Given the description of an element on the screen output the (x, y) to click on. 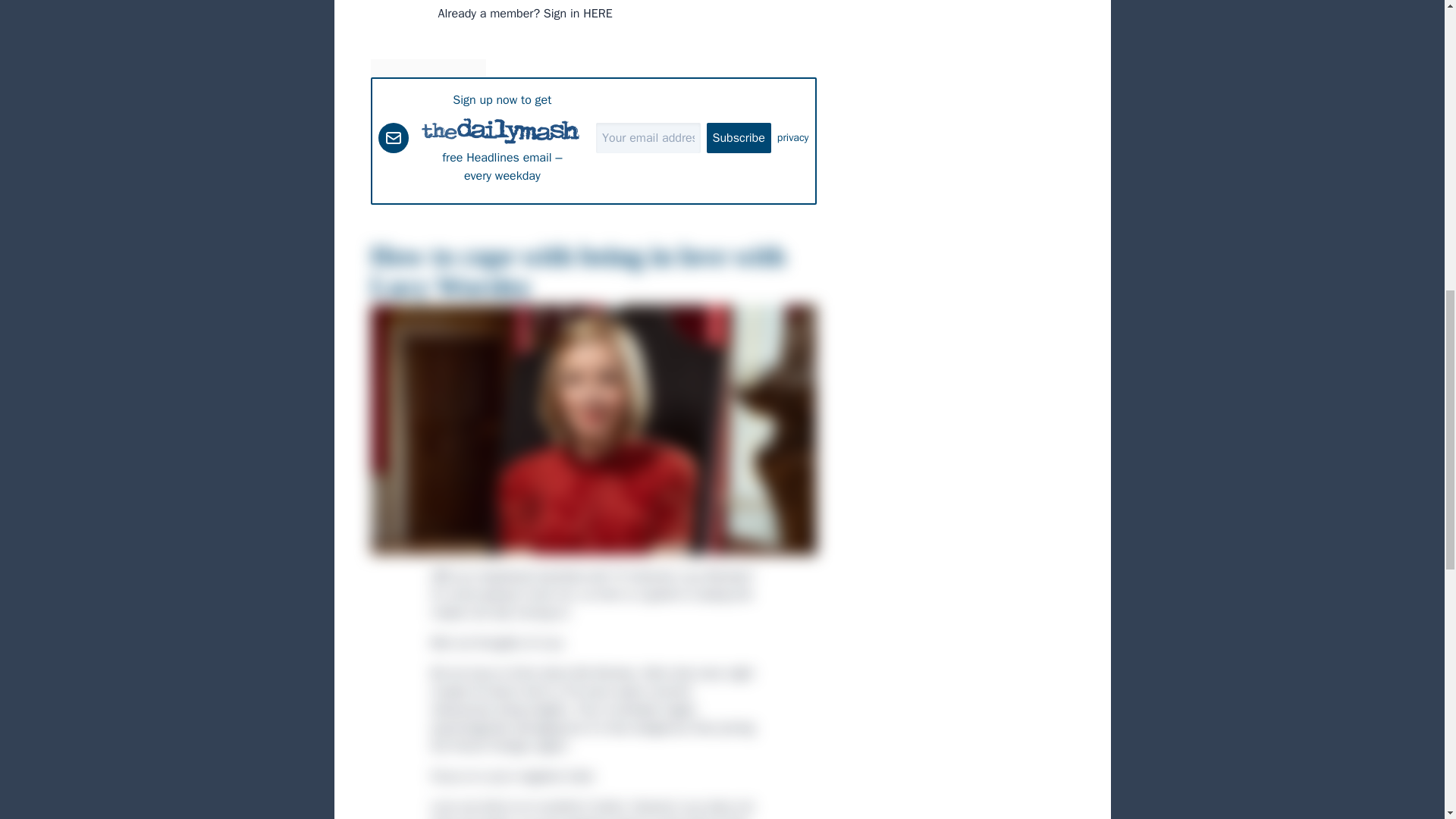
Subscribe (738, 137)
privacy (793, 137)
